Given the description of an element on the screen output the (x, y) to click on. 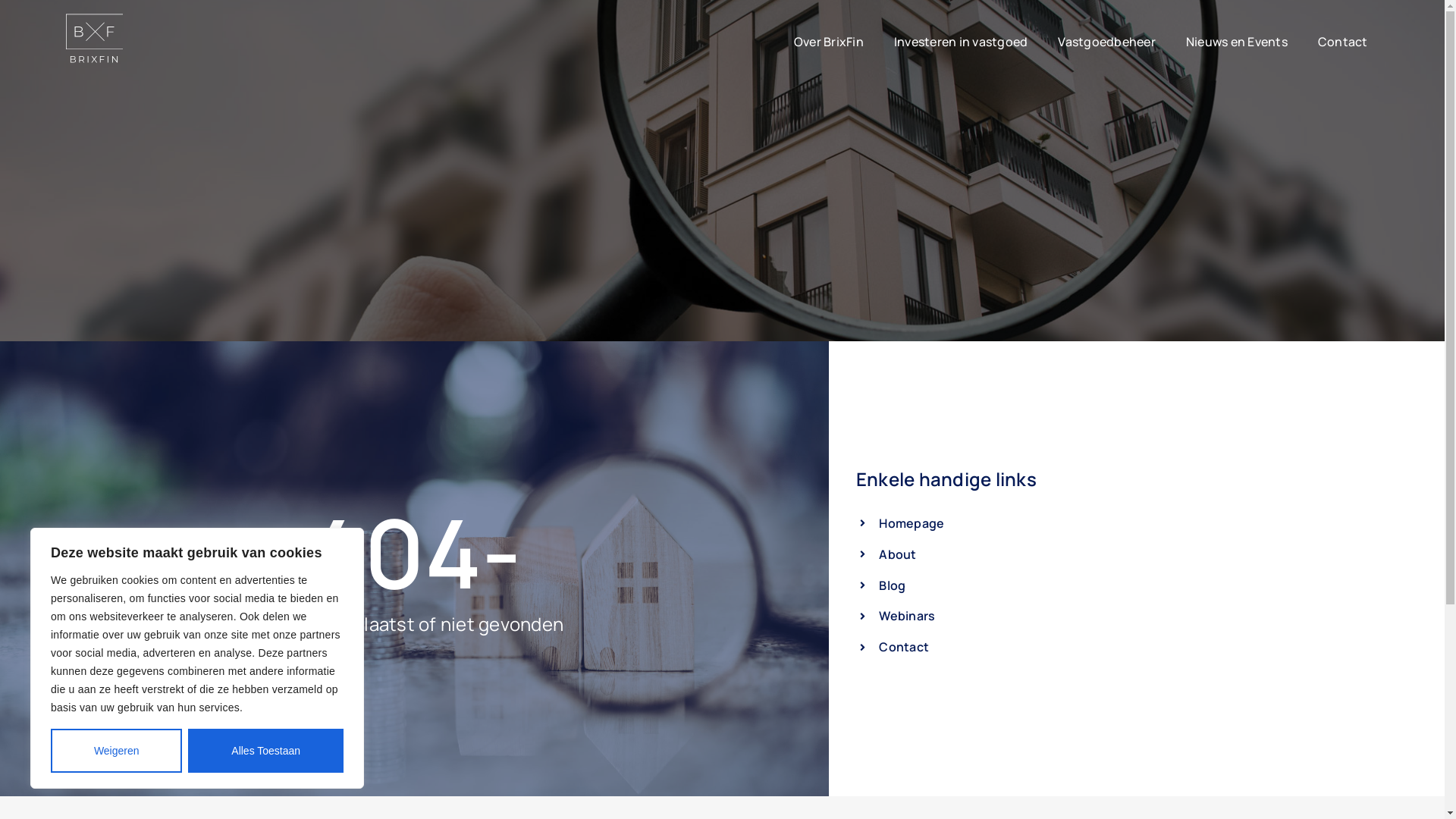
Nieuws en Events Element type: text (1236, 41)
Webinars Element type: text (1145, 616)
Contact Element type: text (1342, 41)
Alles Toestaan Element type: text (265, 750)
Blog Element type: text (1145, 585)
Over BrixFin Element type: text (828, 41)
Investeren in vastgoed Element type: text (960, 41)
Contact Element type: text (1145, 647)
About Element type: text (1145, 554)
Homepage Element type: text (1145, 523)
Weigeren Element type: text (116, 750)
Vastgoedbeheer Element type: text (1106, 41)
